Given the description of an element on the screen output the (x, y) to click on. 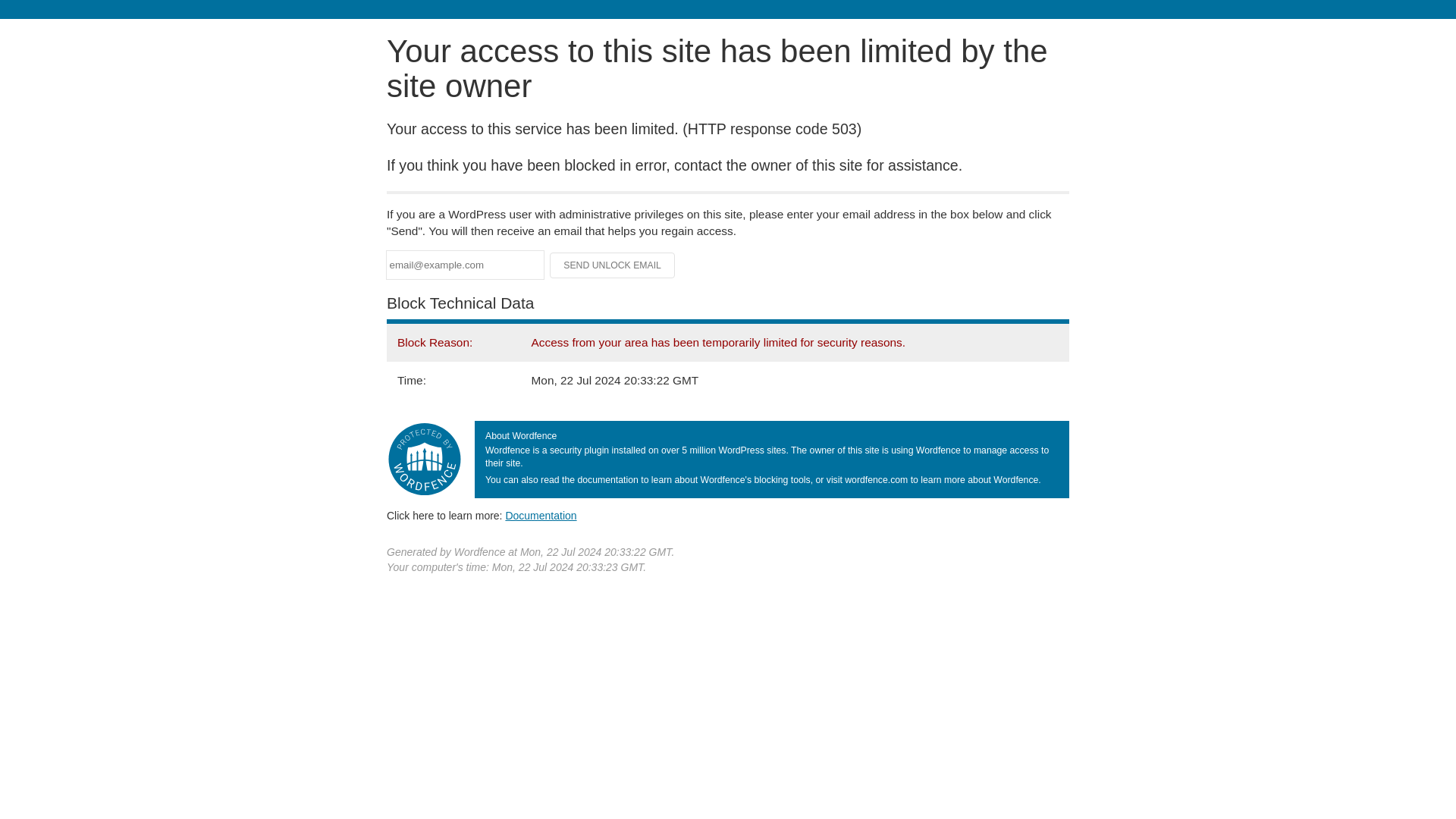
Documentation (540, 515)
Send Unlock Email (612, 265)
Send Unlock Email (612, 265)
